Given the description of an element on the screen output the (x, y) to click on. 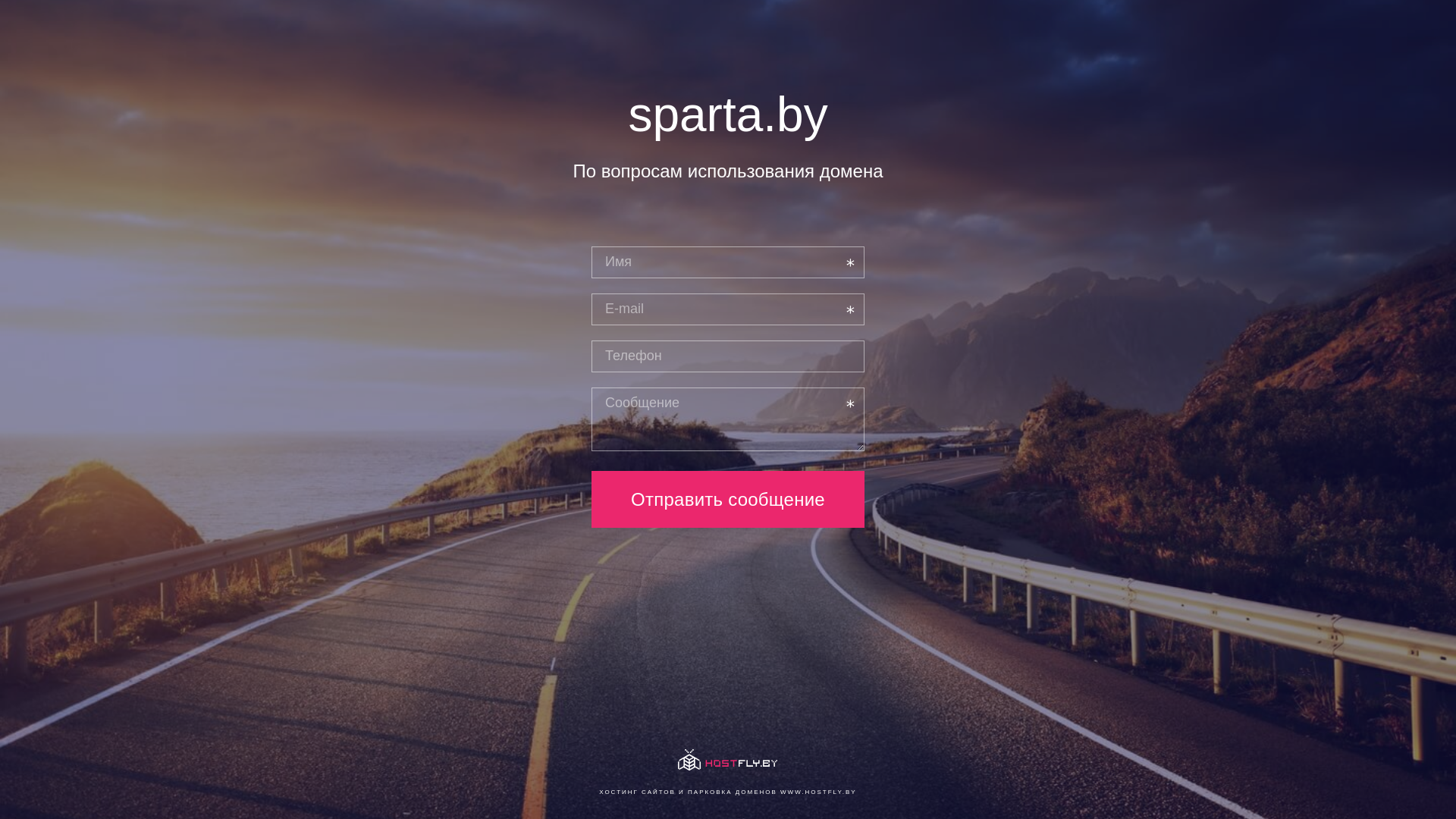
WWW.HOSTFLY.BY Element type: text (818, 791)
